Given the description of an element on the screen output the (x, y) to click on. 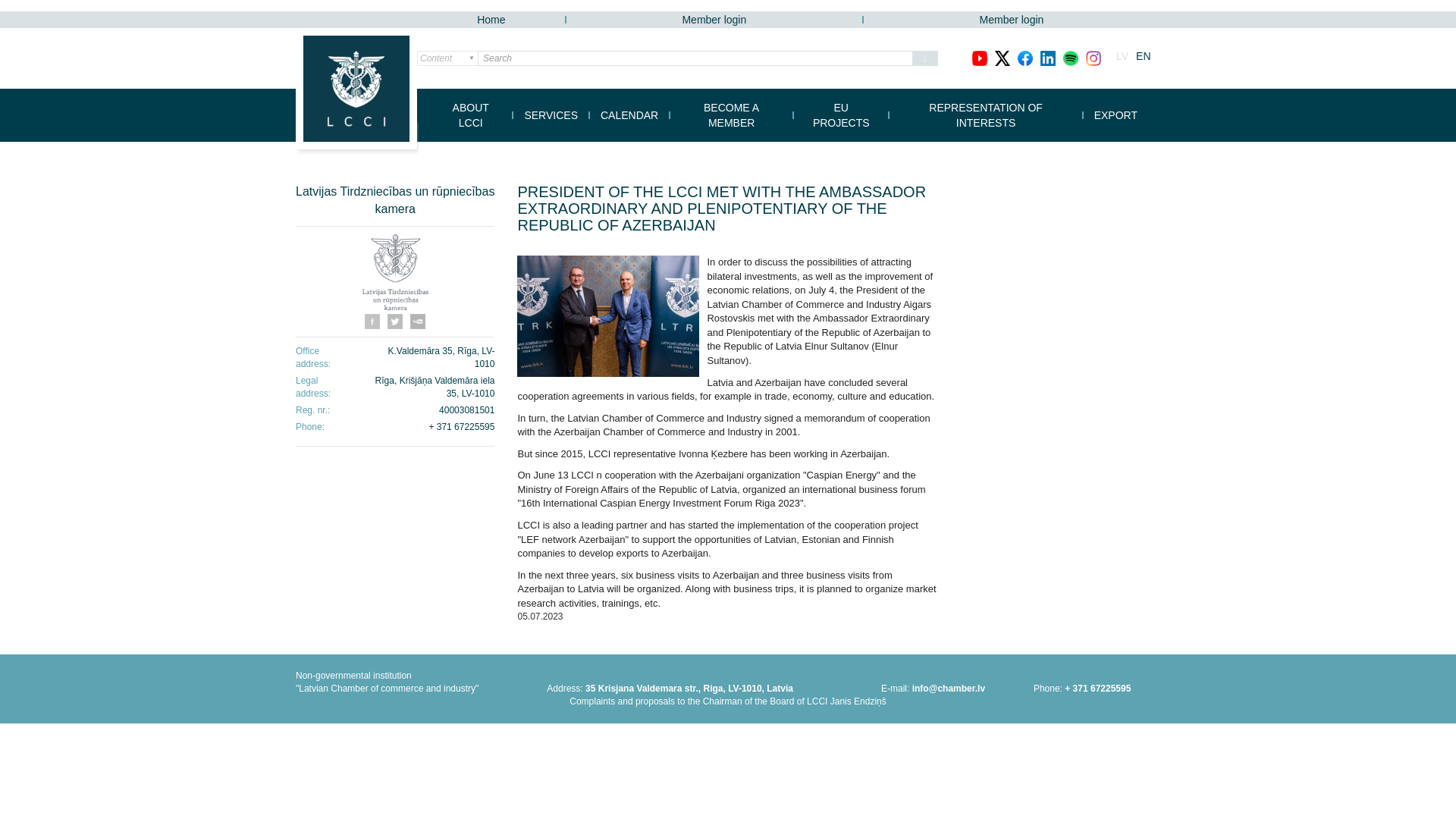
CALENDAR (629, 115)
Member login (1011, 19)
LV (1122, 55)
ABOUT LCCI (470, 114)
Enter the terms you wish to search for. (694, 58)
REPRESENTATION OF INTERESTS (984, 114)
Member login (714, 19)
EN (1142, 55)
BECOME A MEMBER (731, 114)
Search (924, 58)
Home (491, 19)
SERVICES (550, 115)
EU PROJECTS (841, 114)
